Given the description of an element on the screen output the (x, y) to click on. 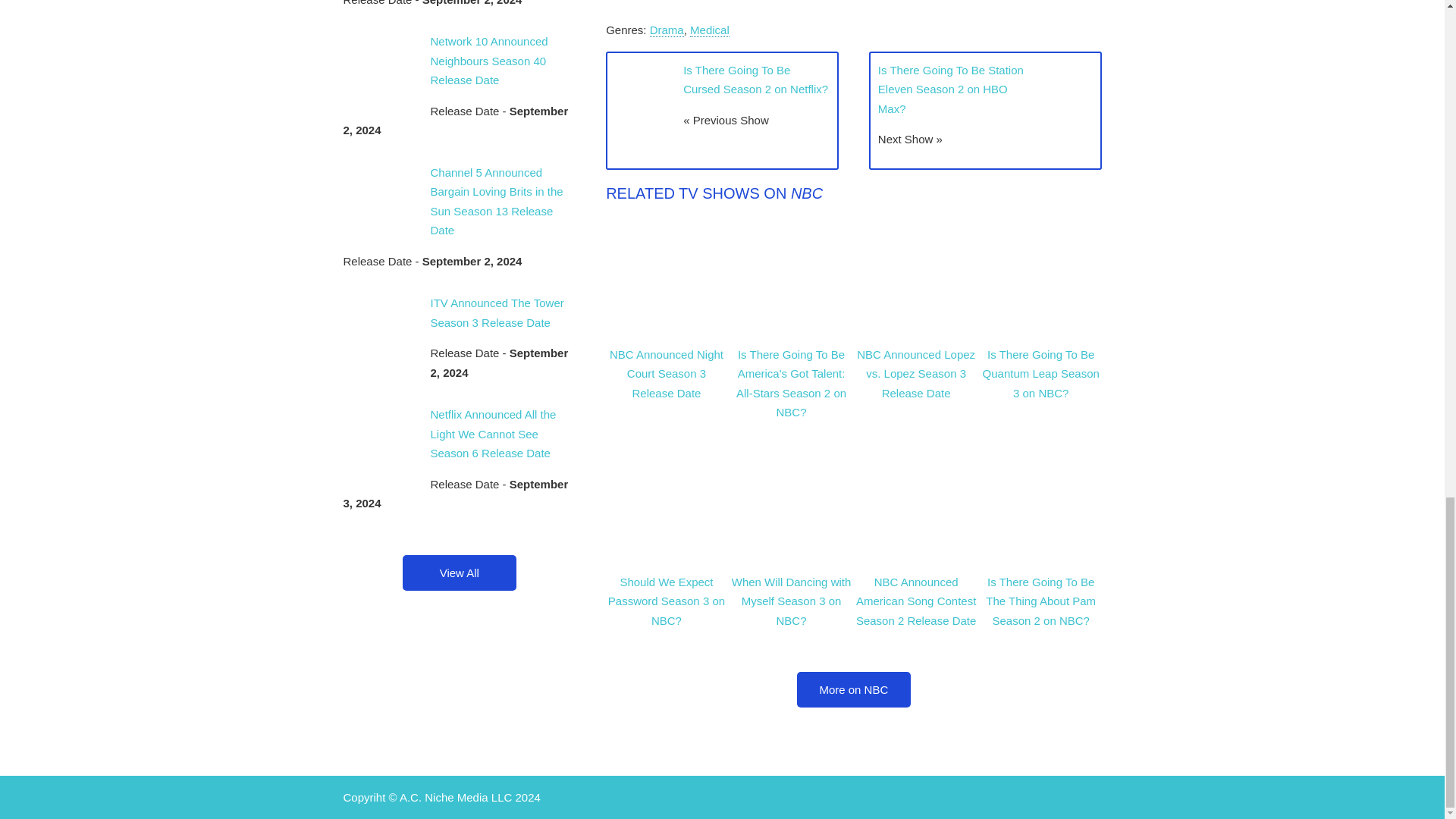
Should We Expect Password Season 3 on NBC? (666, 601)
Is There Going To Be The Thing About Pam Season 2 on NBC? (1040, 601)
Medical (709, 29)
NBC Announced Lopez vs. Lopez Season 3 Release Date (916, 373)
Is There Going To Be Station Eleven Season 2 on HBO Max? (950, 89)
Is There Going To Be Quantum Leap Season 3 on NBC? (1040, 373)
Is There Going To Be Cursed Season 2 on Netflix? (755, 79)
When Will Dancing with Myself Season 3 on NBC? (791, 601)
